Given the description of an element on the screen output the (x, y) to click on. 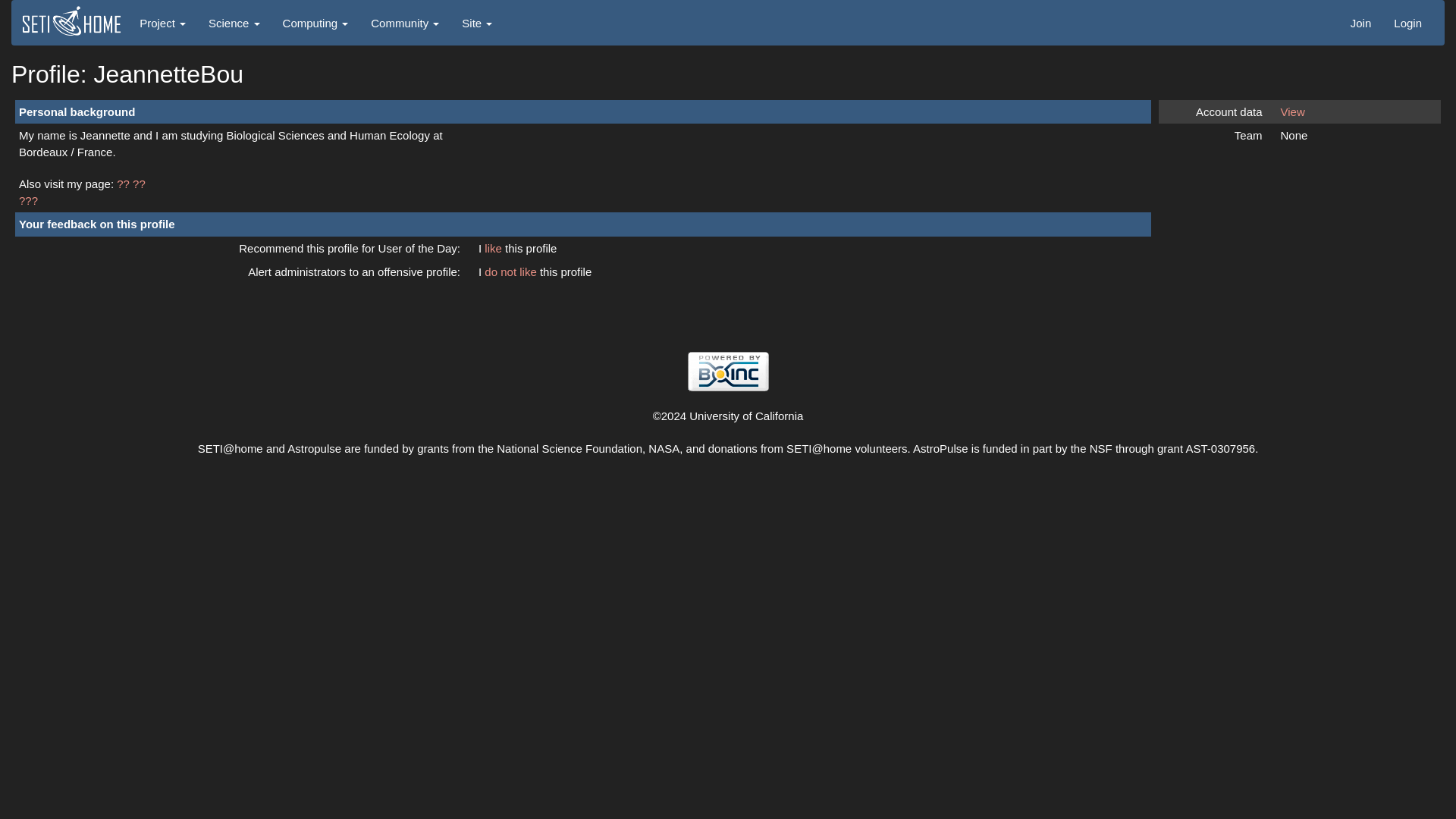
Community (404, 22)
like (494, 247)
Site (476, 22)
Computing (314, 22)
Project (162, 22)
View (1292, 111)
Science (233, 22)
Login (1406, 22)
do not like (512, 271)
Join (1361, 22)
